Given the description of an element on the screen output the (x, y) to click on. 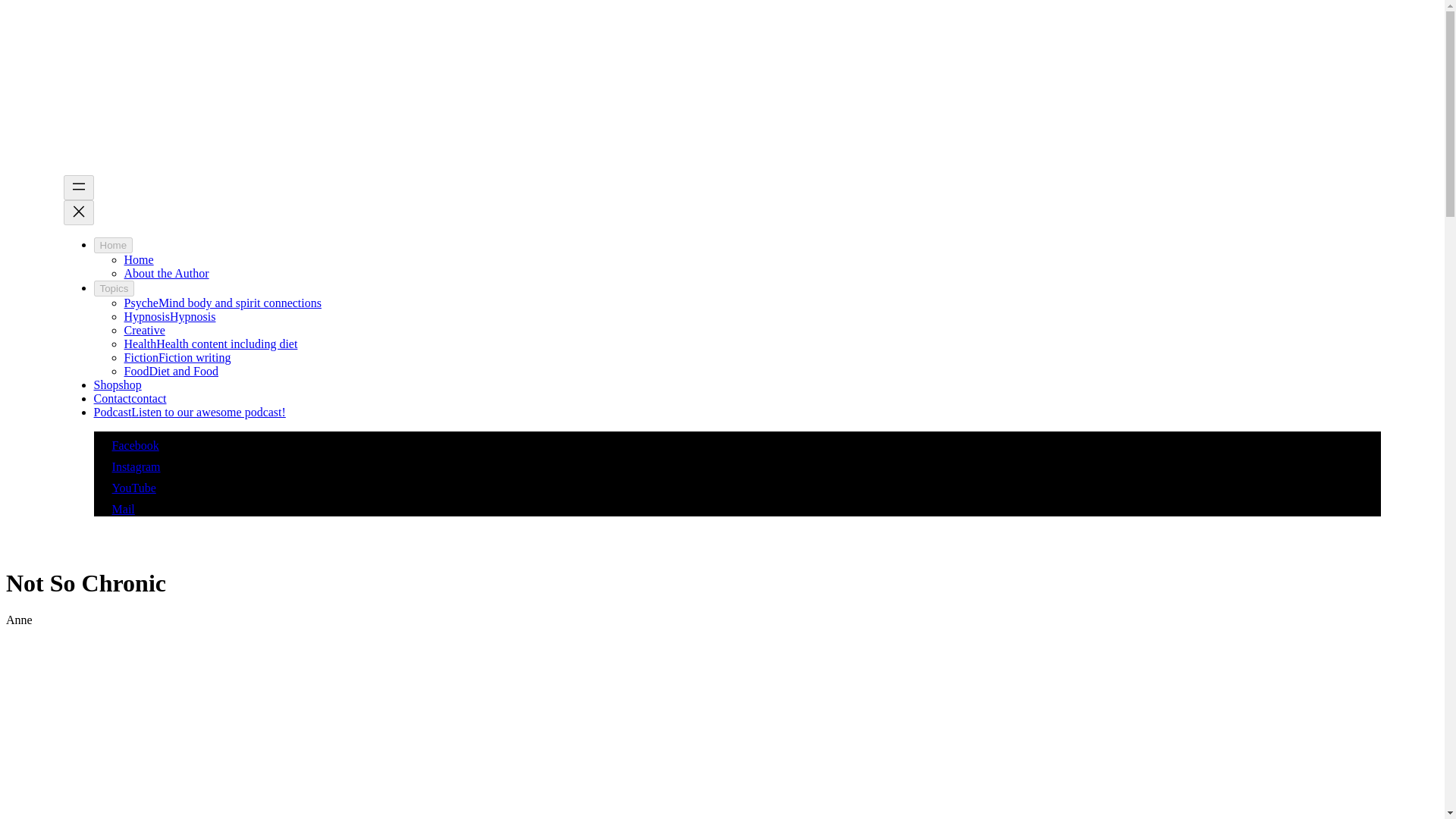
Topics (114, 288)
Contactcontact (130, 398)
Instagram (127, 466)
Podcast (189, 411)
PsycheMind body and spirit connections (222, 302)
health (210, 343)
psyche (222, 302)
Facebook (126, 445)
fiction (177, 357)
HypnosisHypnosis (169, 316)
Home (113, 245)
FictionFiction writing (177, 357)
hypnosis (169, 316)
FoodDiet and Food (170, 370)
shop (117, 384)
